Given the description of an element on the screen output the (x, y) to click on. 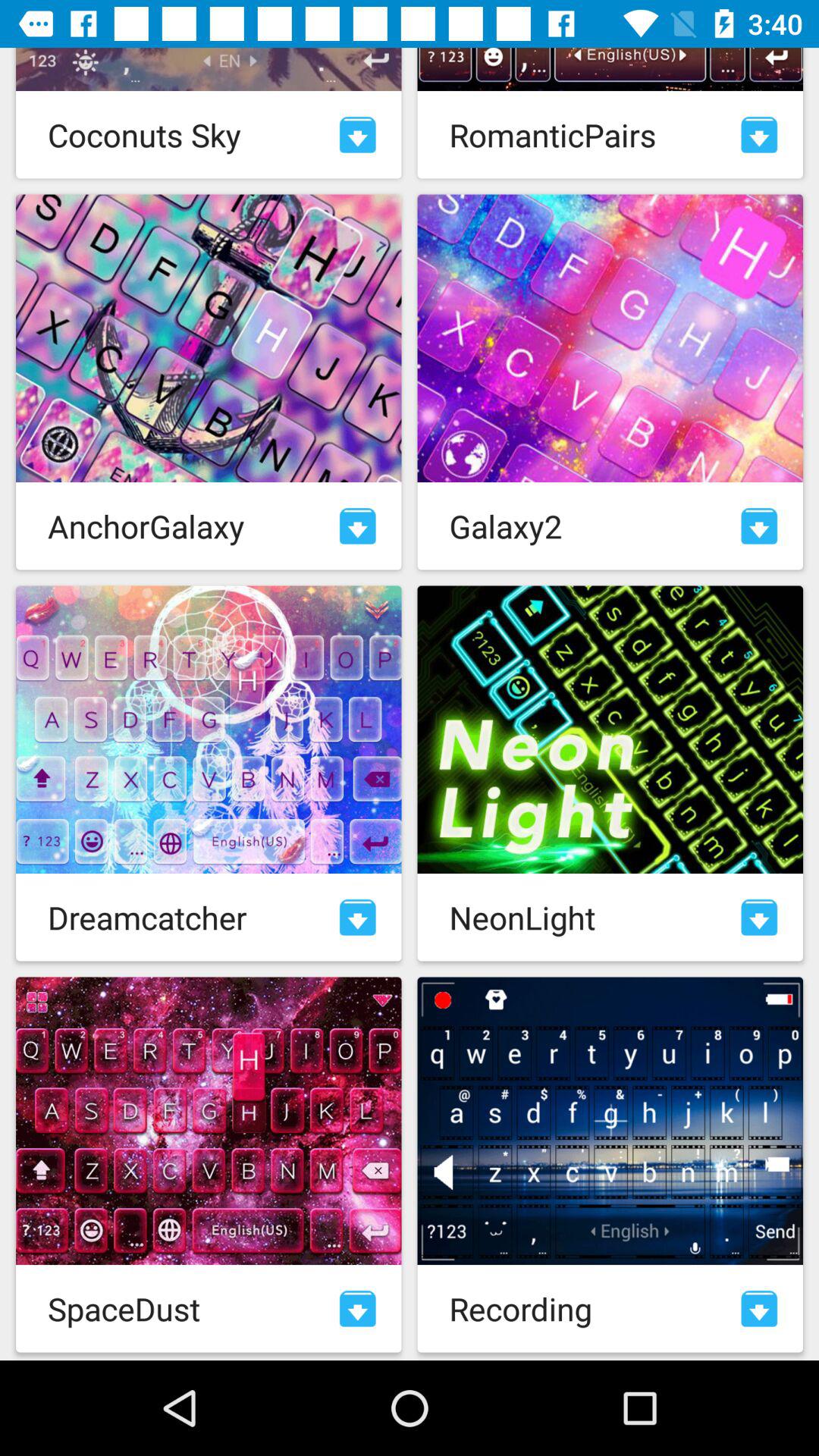
download galaxy2 (759, 525)
